Given the description of an element on the screen output the (x, y) to click on. 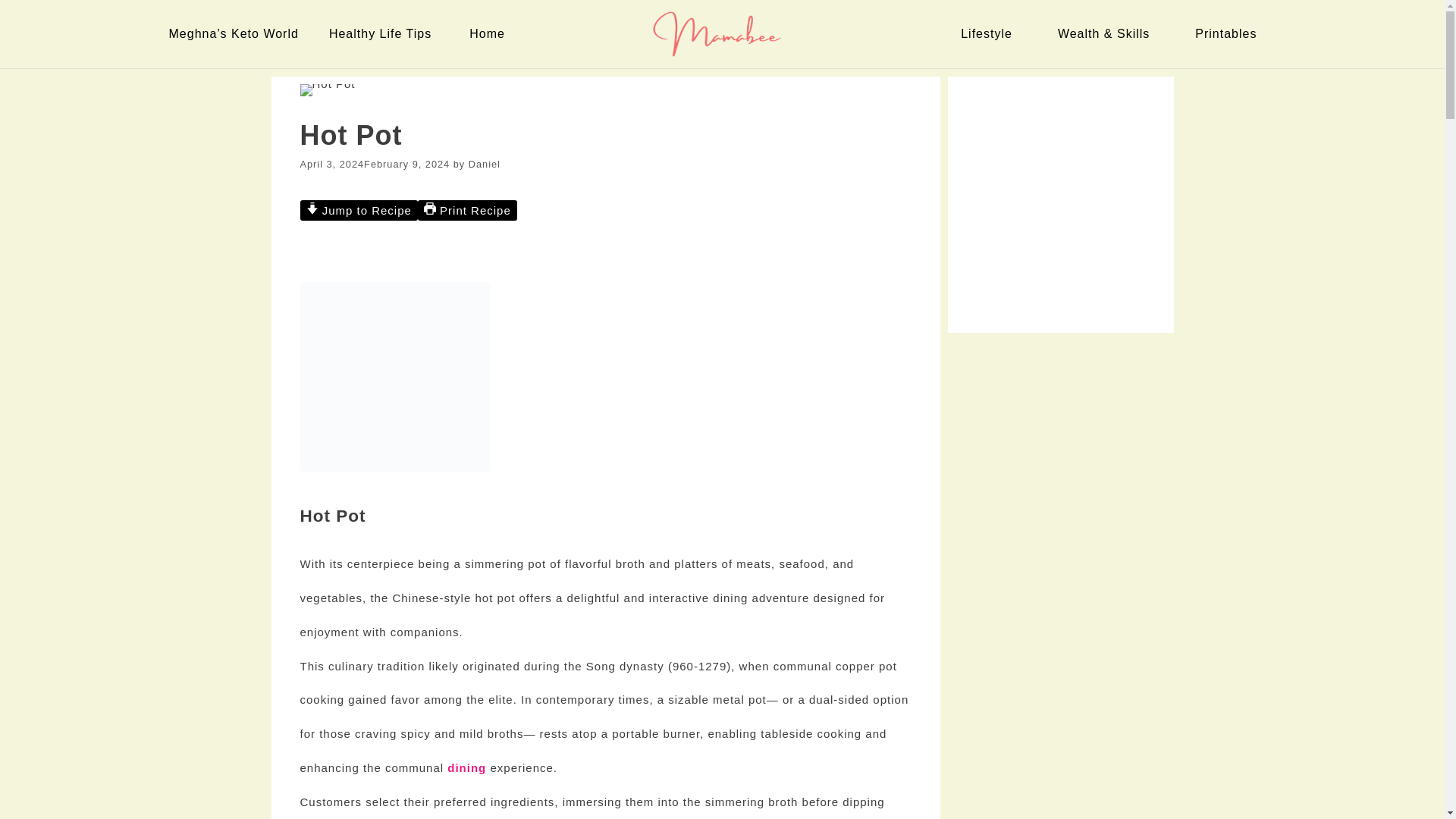
Healthy Life Tips (383, 33)
View all posts by Daniel (484, 163)
Home (490, 33)
Lifestyle (989, 33)
